Given the description of an element on the screen output the (x, y) to click on. 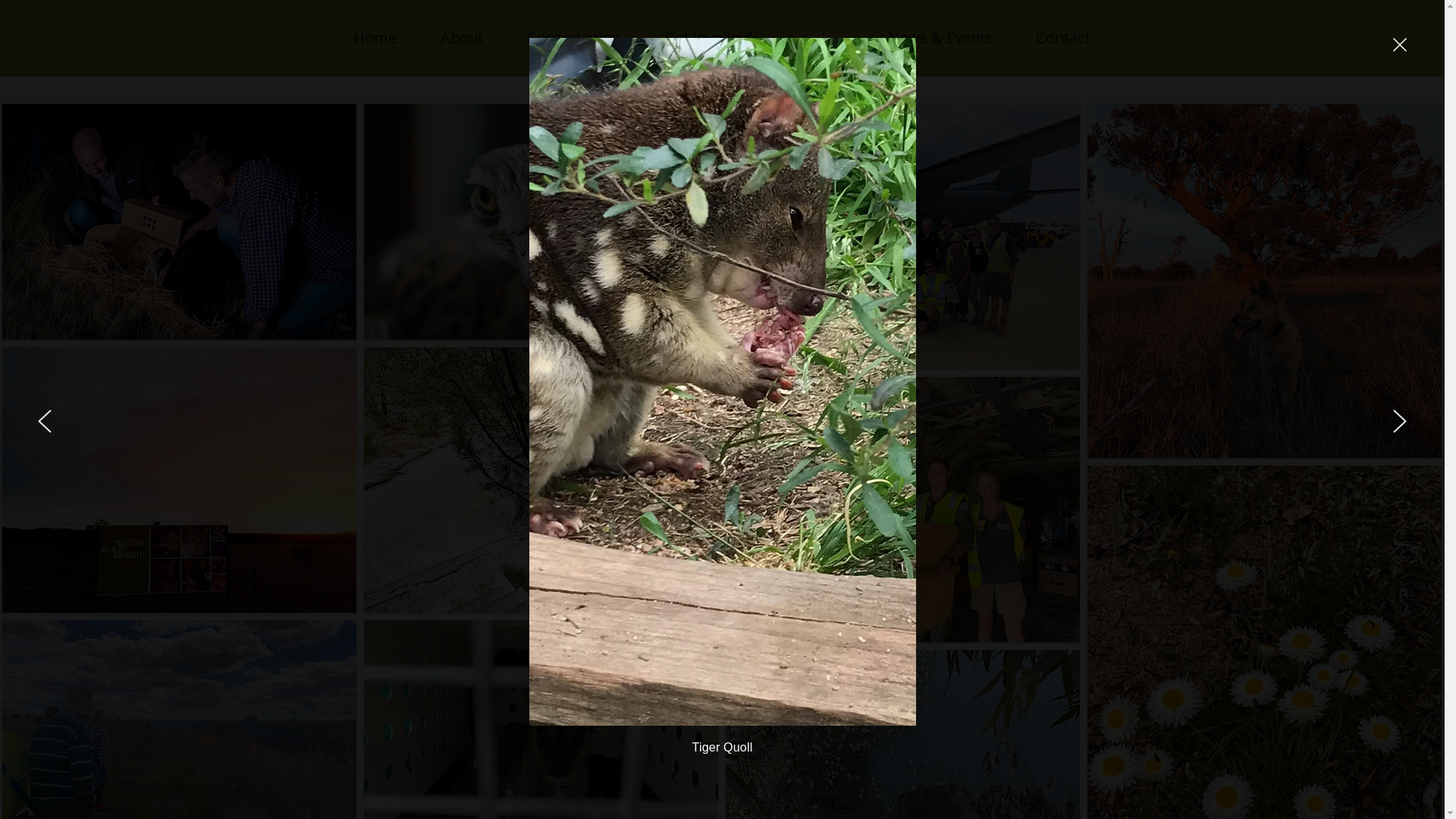
Home Element type: text (373, 37)
About Element type: text (461, 37)
Conservation Element type: text (573, 37)
Contact Element type: text (1063, 37)
Get Involved Element type: text (707, 37)
Gallery Element type: text (819, 37)
News & Events Element type: text (939, 37)
